Given the description of an element on the screen output the (x, y) to click on. 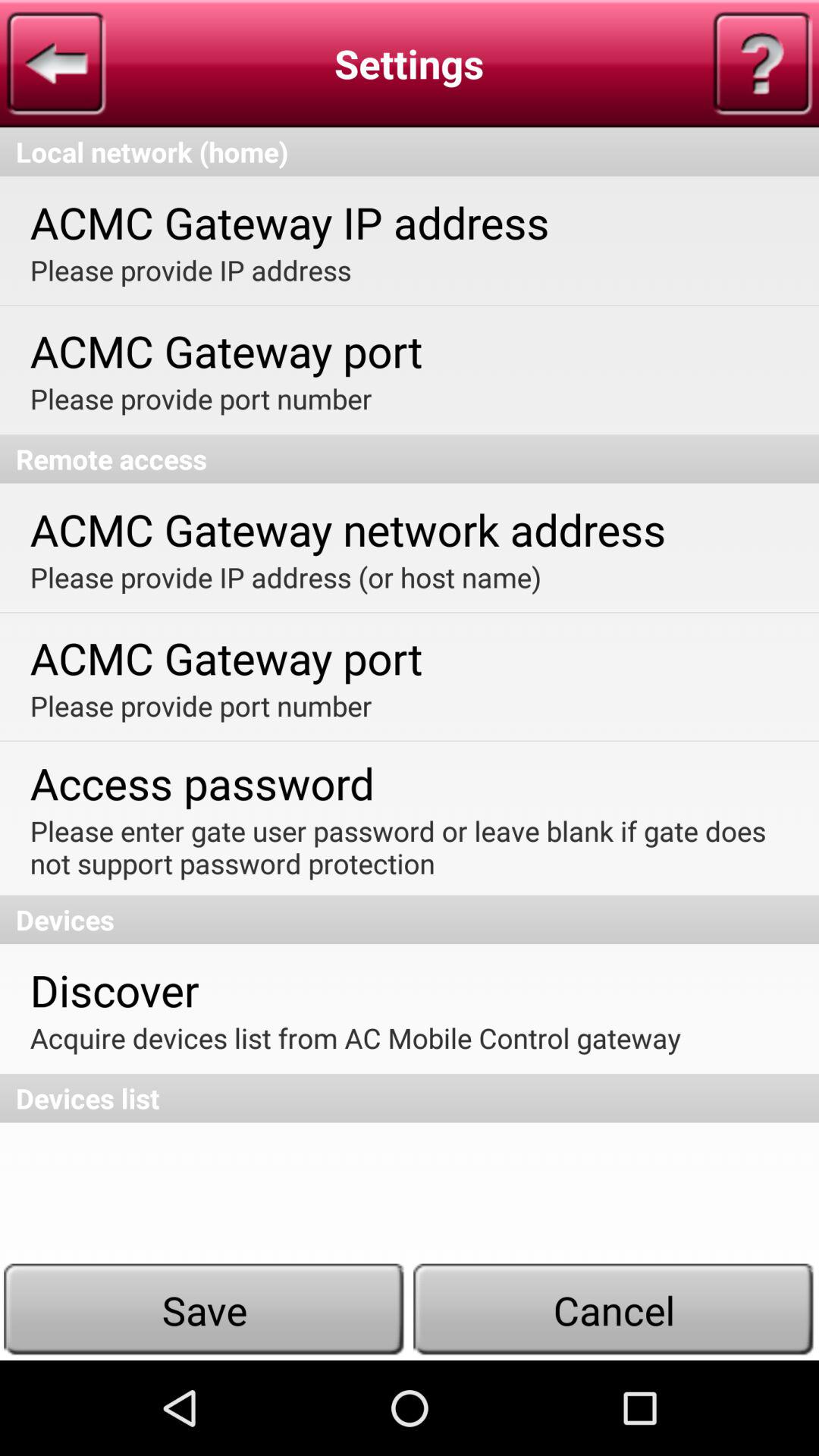
open faq (762, 63)
